Given the description of an element on the screen output the (x, y) to click on. 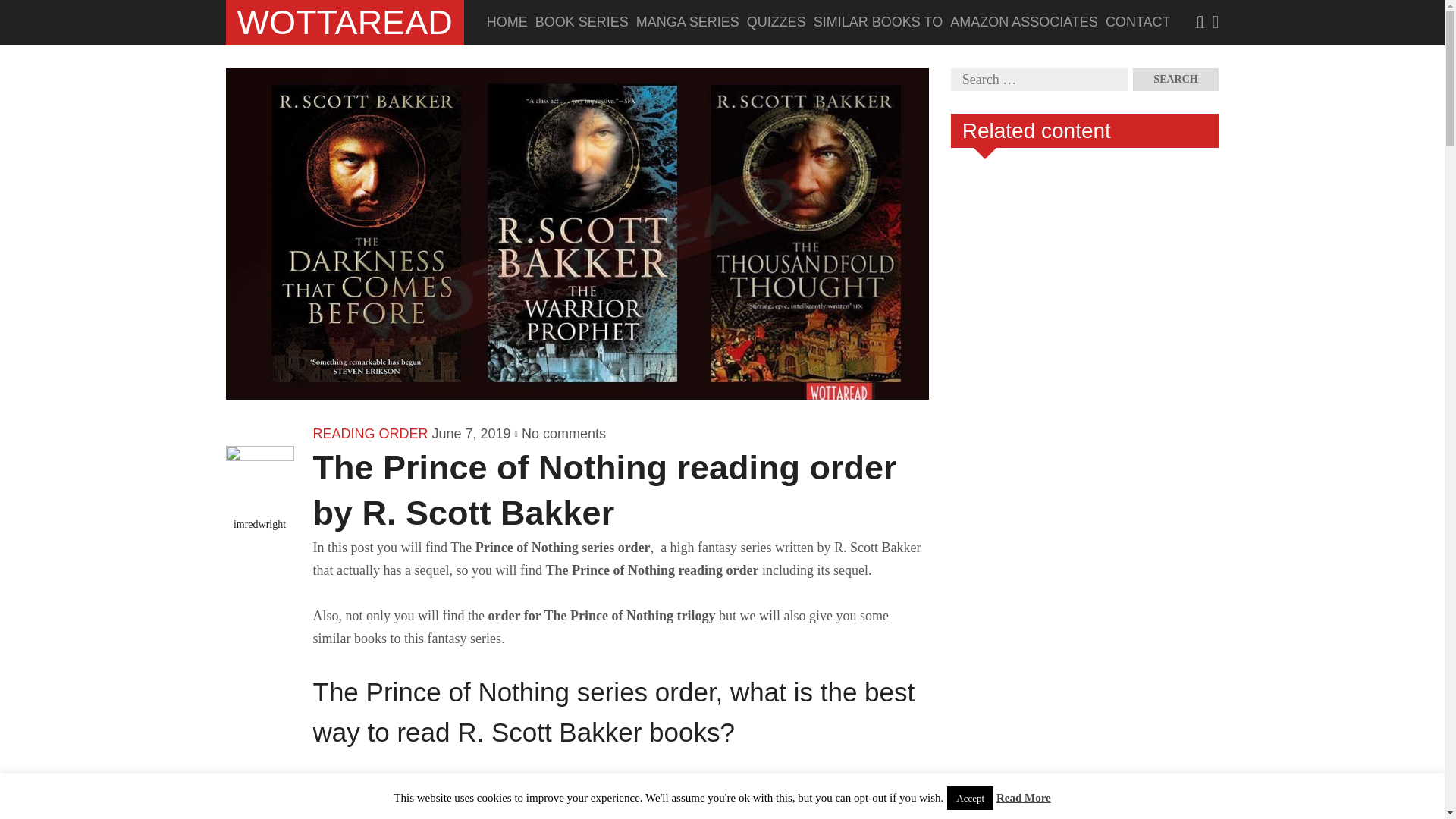
Advertisement (1063, 748)
WOTTAREAD (343, 22)
Search (1176, 78)
QUIZZES (772, 22)
BOOK SERIES (577, 22)
Search (160, 11)
HOME (503, 22)
MANGA SERIES (683, 22)
Search (1176, 78)
SIMILAR BOOKS TO (874, 22)
